Given the description of an element on the screen output the (x, y) to click on. 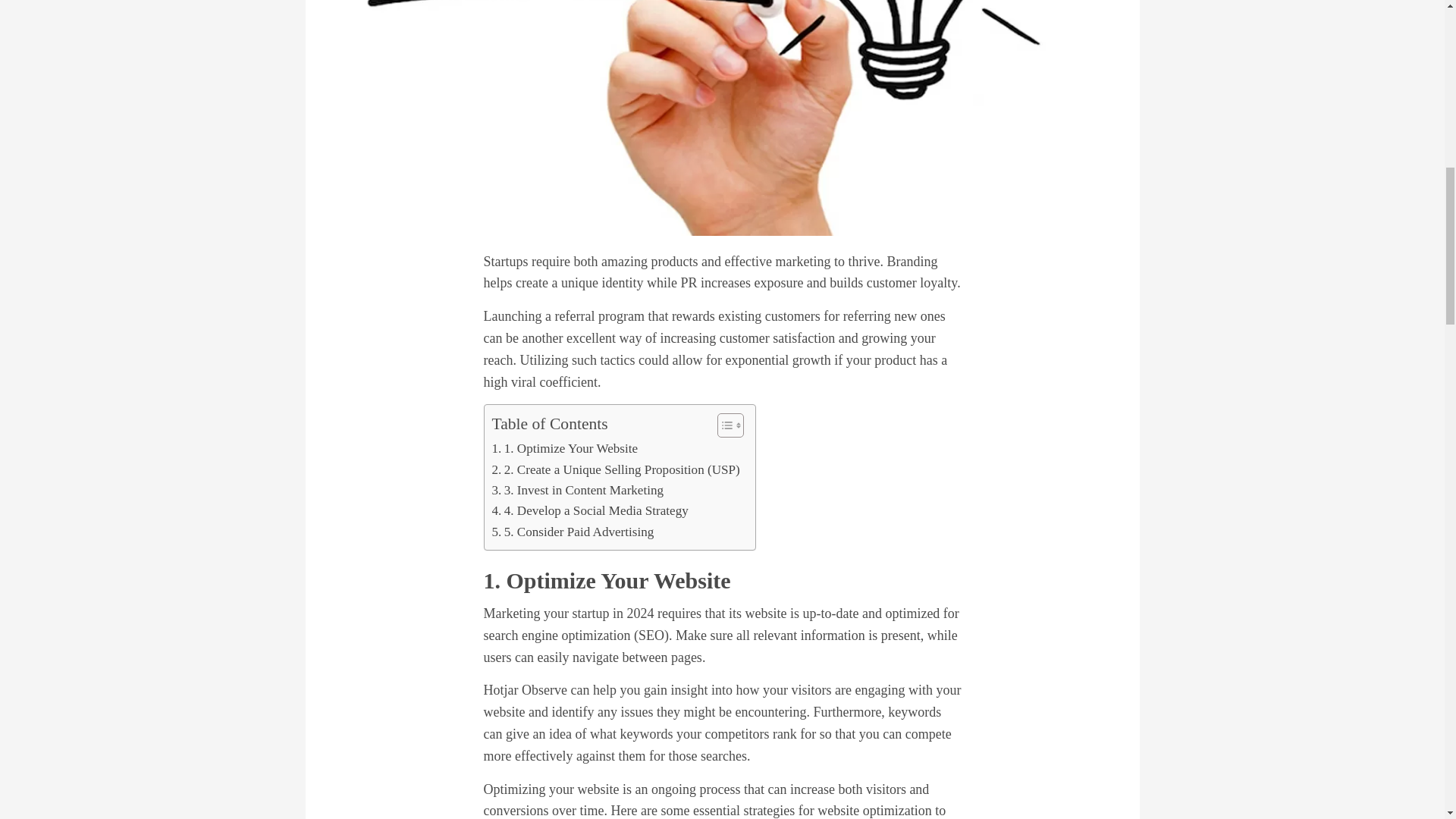
5. Consider Paid Advertising (572, 531)
1. Optimize Your Website (564, 448)
3. Invest in Content Marketing (577, 489)
4. Develop a Social Media Strategy (589, 510)
3. Invest in Content Marketing (577, 489)
5. Consider Paid Advertising (572, 531)
1. Optimize Your Website (564, 448)
4. Develop a Social Media Strategy (589, 510)
